Given the description of an element on the screen output the (x, y) to click on. 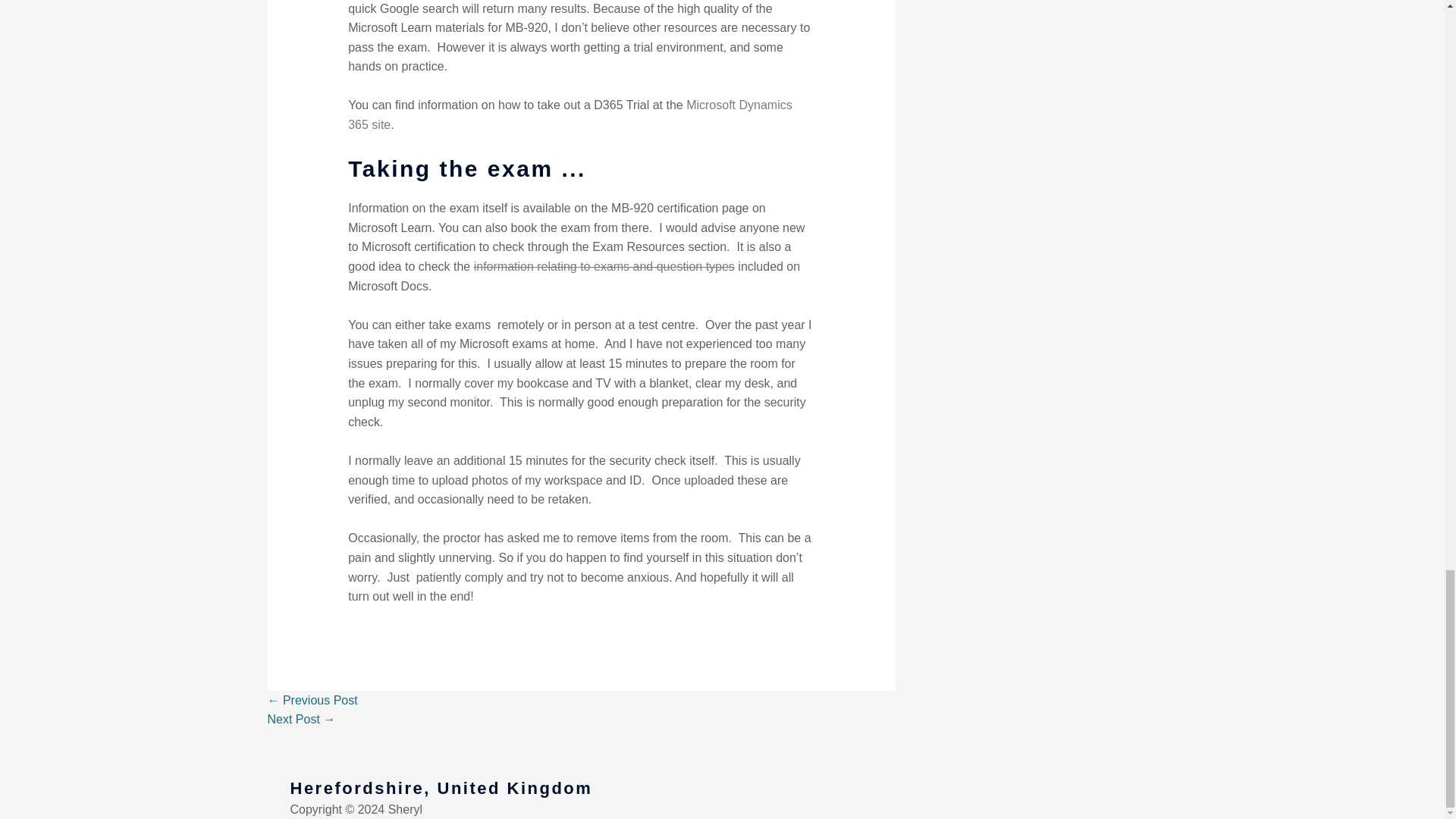
information relating to exams and question types (604, 266)
Becoming an MVP (300, 718)
TechStylers ... August 2021 (311, 699)
Microsoft Dynamics 365 site (569, 114)
